Given the description of an element on the screen output the (x, y) to click on. 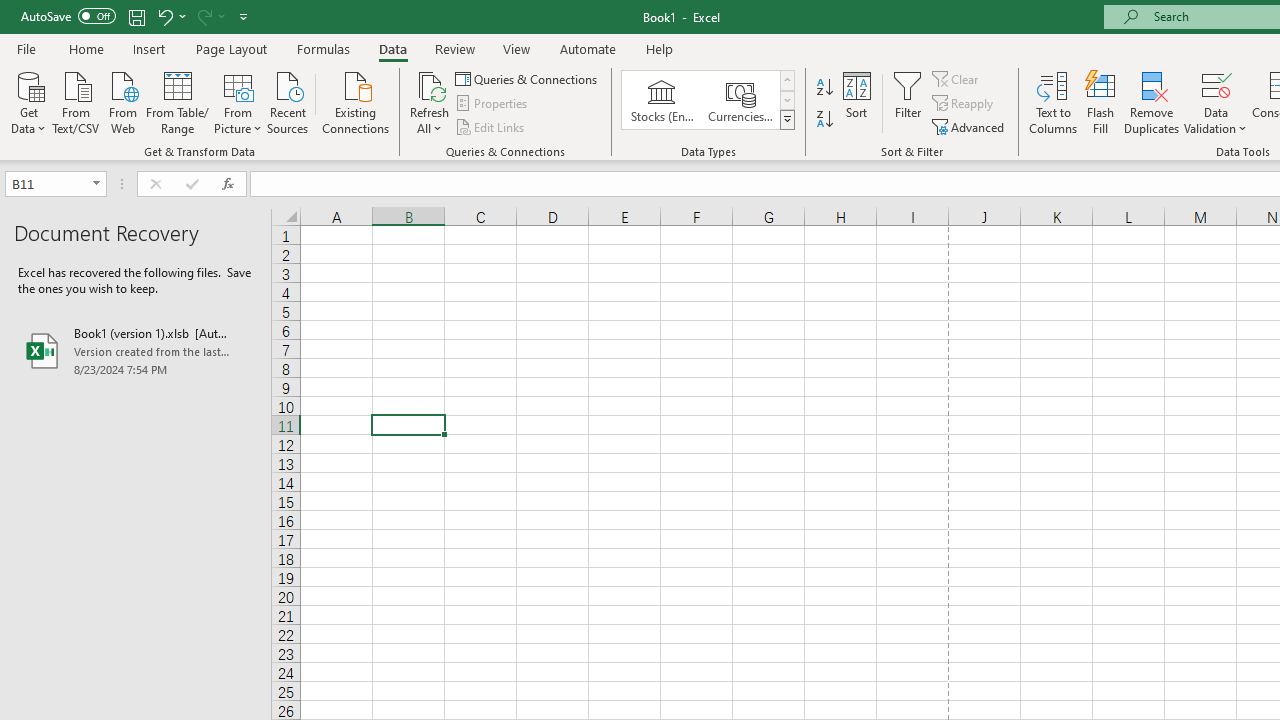
Sort A to Z (824, 87)
Quick Access Toolbar (136, 16)
Existing Connections (355, 101)
Customize Quick Access Toolbar (244, 15)
Sort Z to A (824, 119)
From Web (122, 101)
AutomationID: ConvertToLinkedEntity (708, 99)
Class: NetUIImage (787, 119)
Currencies (English) (740, 100)
Recent Sources (287, 101)
From Table/Range (177, 101)
File Tab (26, 48)
